Given the description of an element on the screen output the (x, y) to click on. 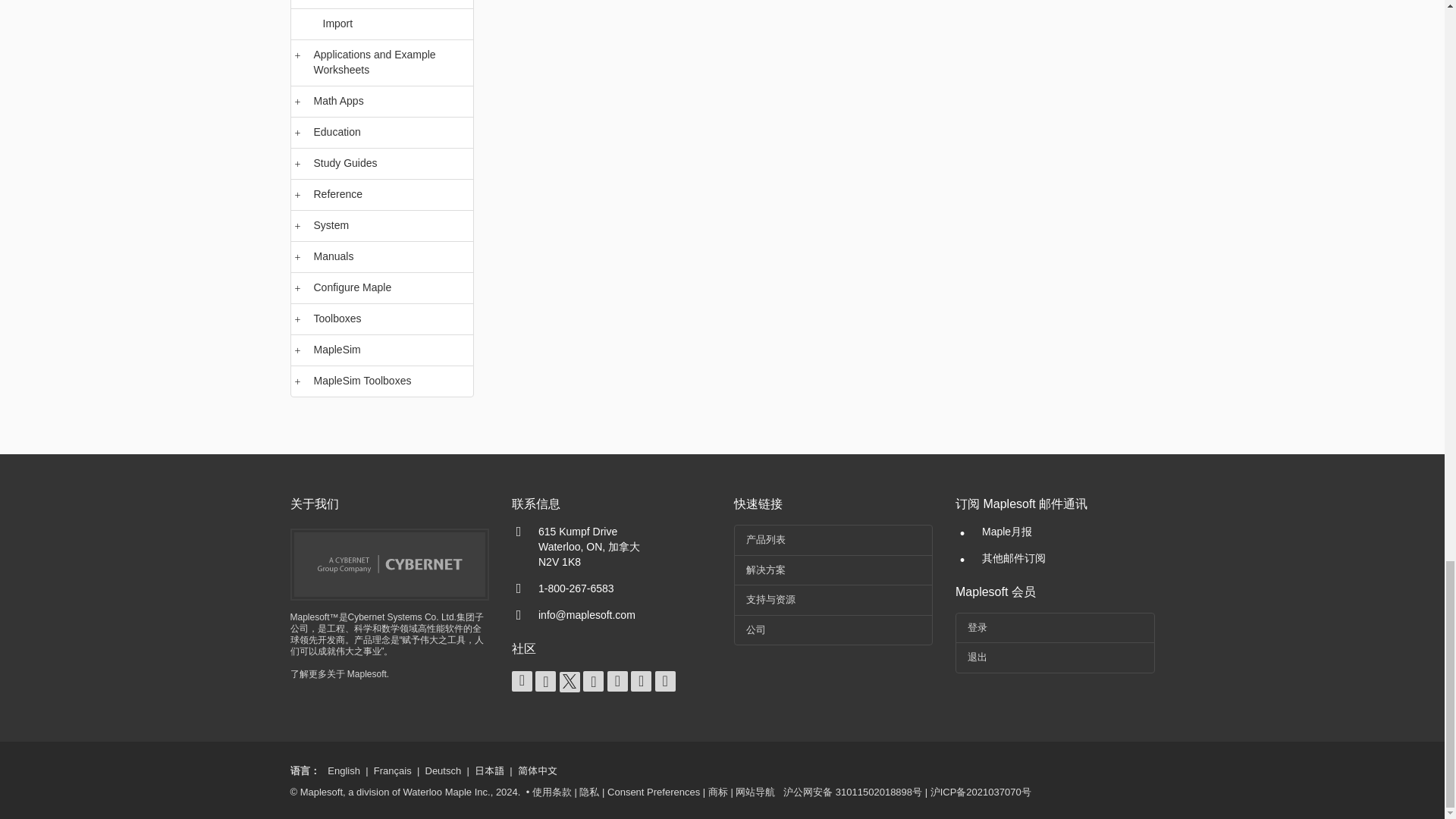
WeChat (665, 680)
